Given the description of an element on the screen output the (x, y) to click on. 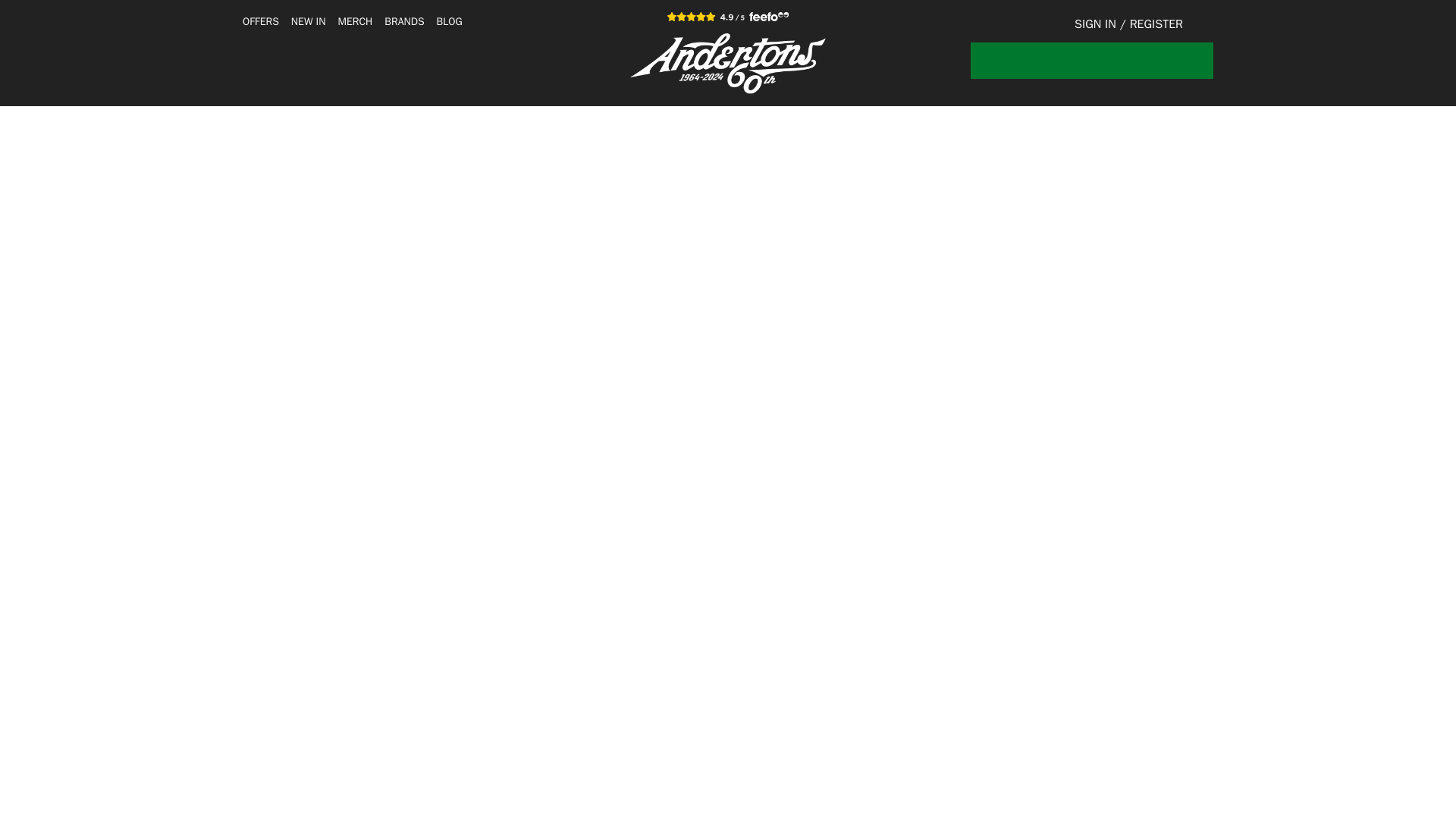
Andertons Music Co - Store 1 (727, 63)
NEW IN (308, 21)
BLOG (449, 21)
BRANDS (403, 21)
OFFERS (261, 21)
MERCH (354, 21)
